Given the description of an element on the screen output the (x, y) to click on. 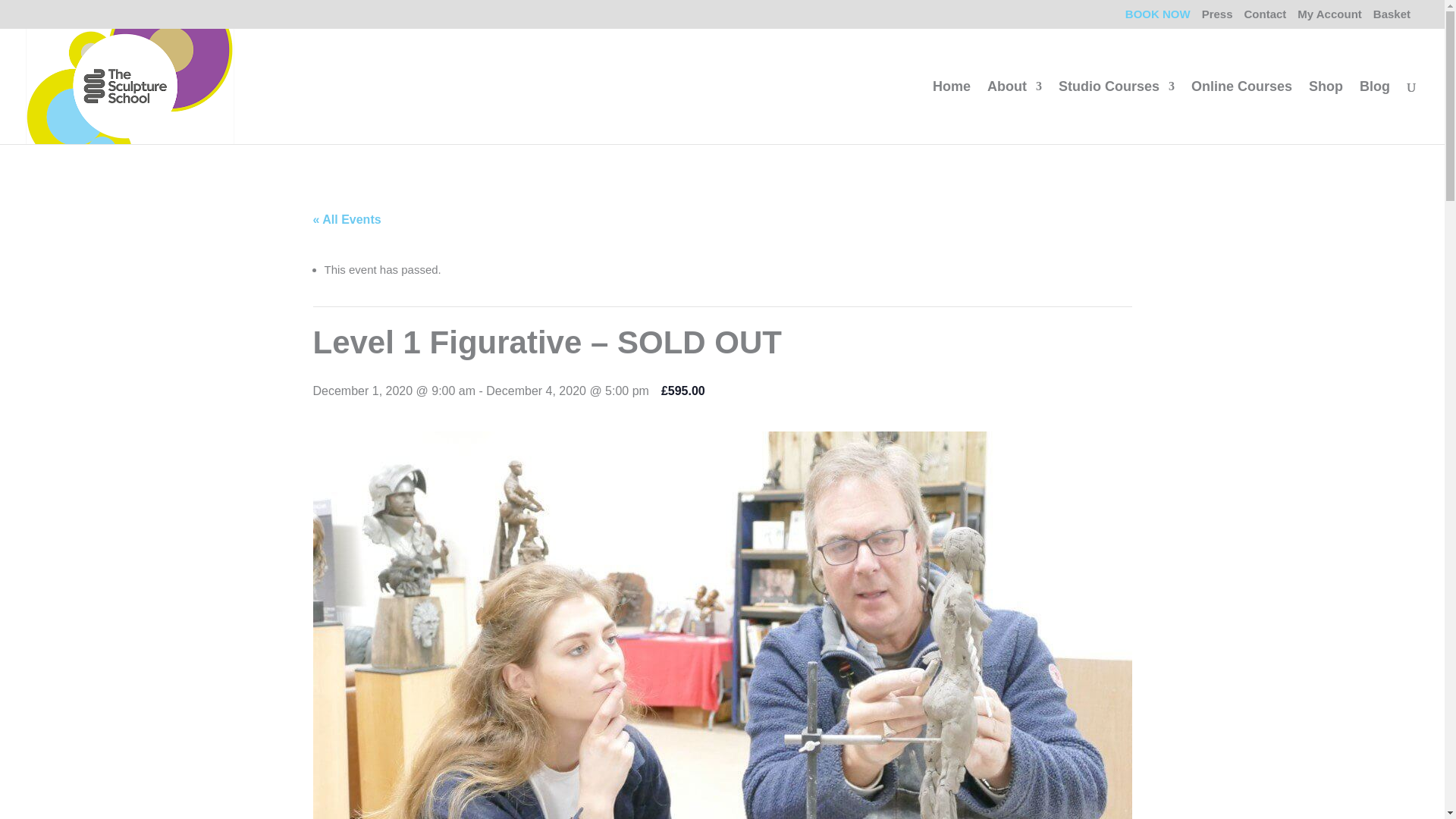
My Account (1329, 17)
Basket (1391, 17)
Contact (1264, 17)
Online Courses (1241, 111)
Studio Courses (1116, 111)
BOOK NOW (1158, 17)
Press (1217, 17)
